Given the description of an element on the screen output the (x, y) to click on. 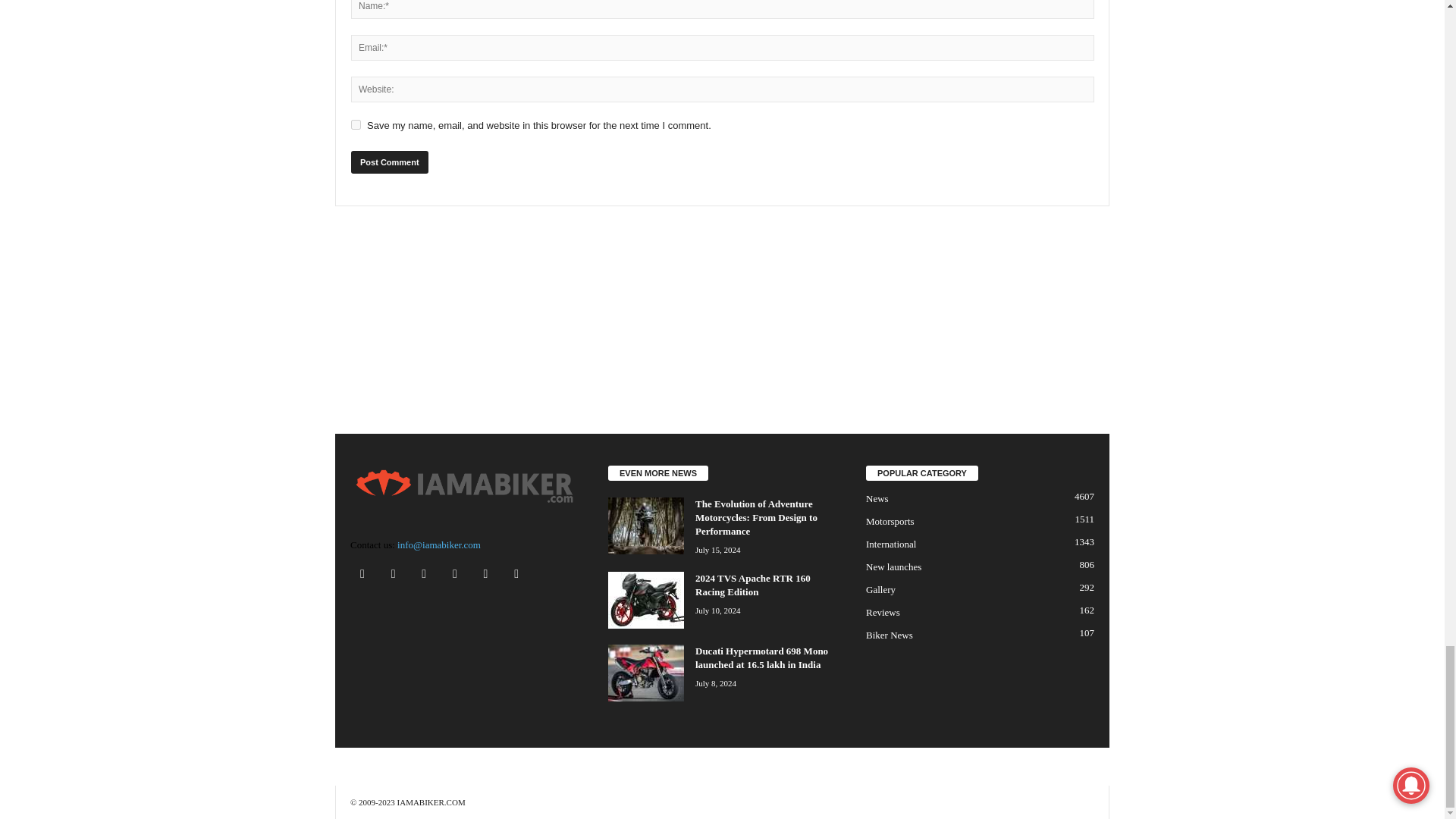
yes (355, 124)
Post Comment (389, 161)
